Given the description of an element on the screen output the (x, y) to click on. 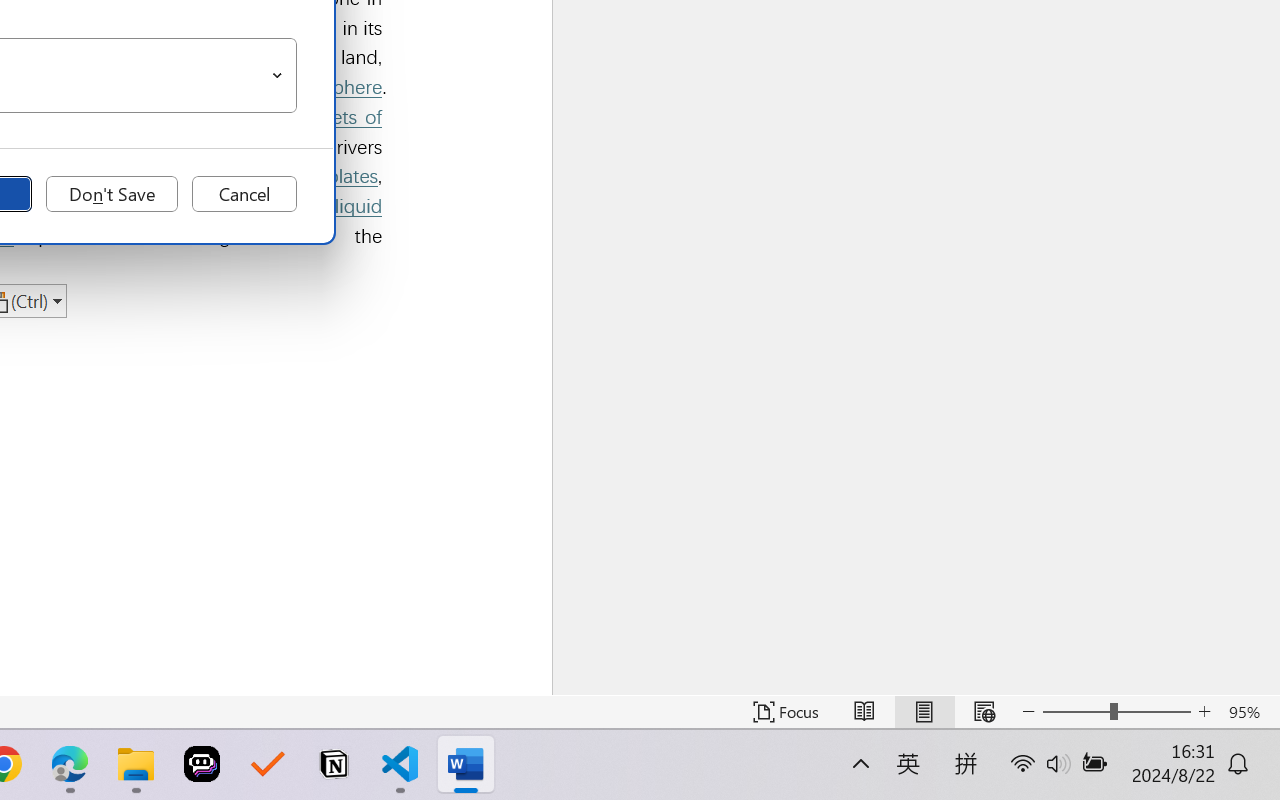
Open (277, 75)
Zoom 95% (1249, 712)
